Given the description of an element on the screen output the (x, y) to click on. 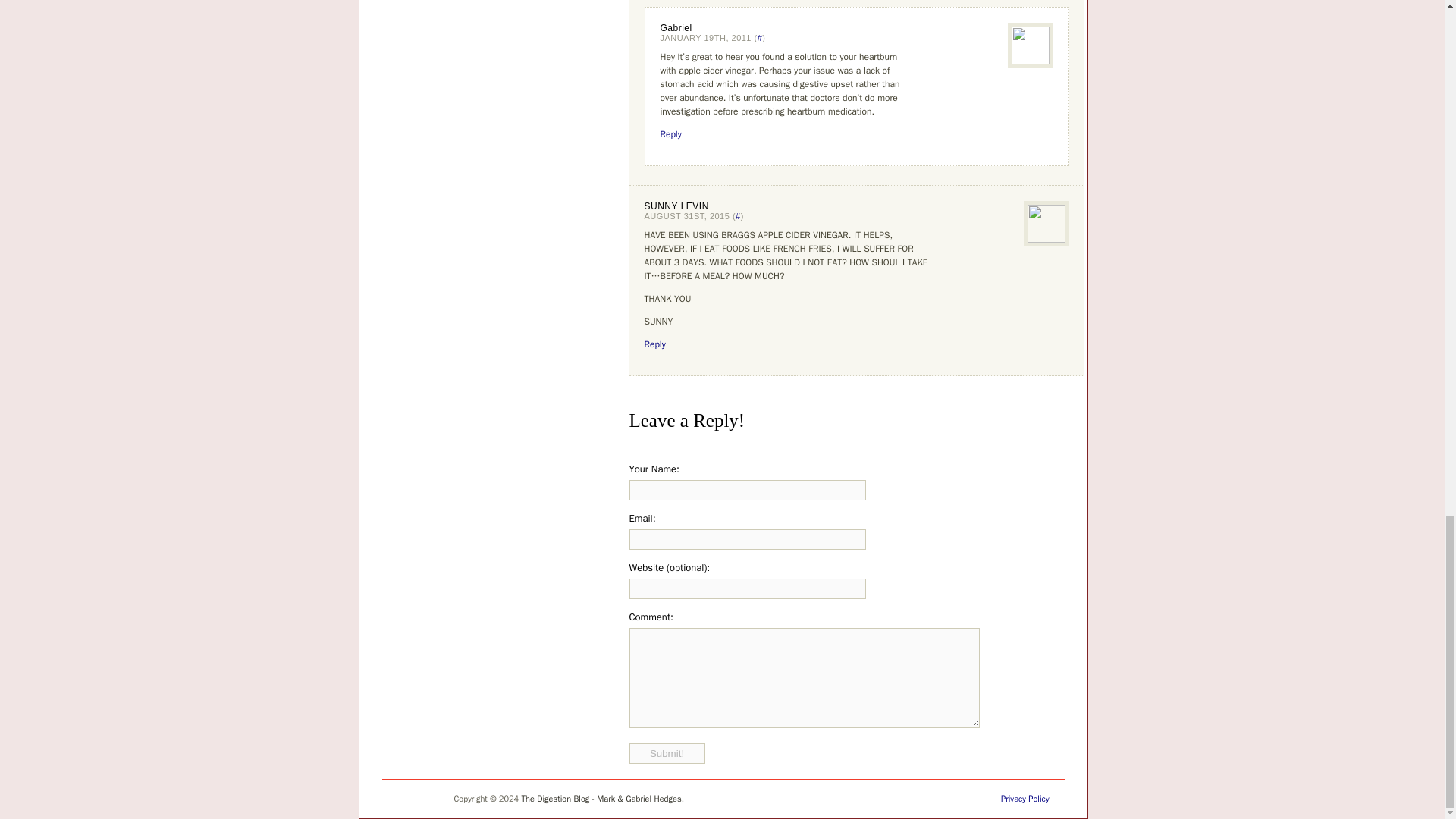
Submit! (666, 752)
Reply (655, 344)
Reply (670, 133)
